Given the description of an element on the screen output the (x, y) to click on. 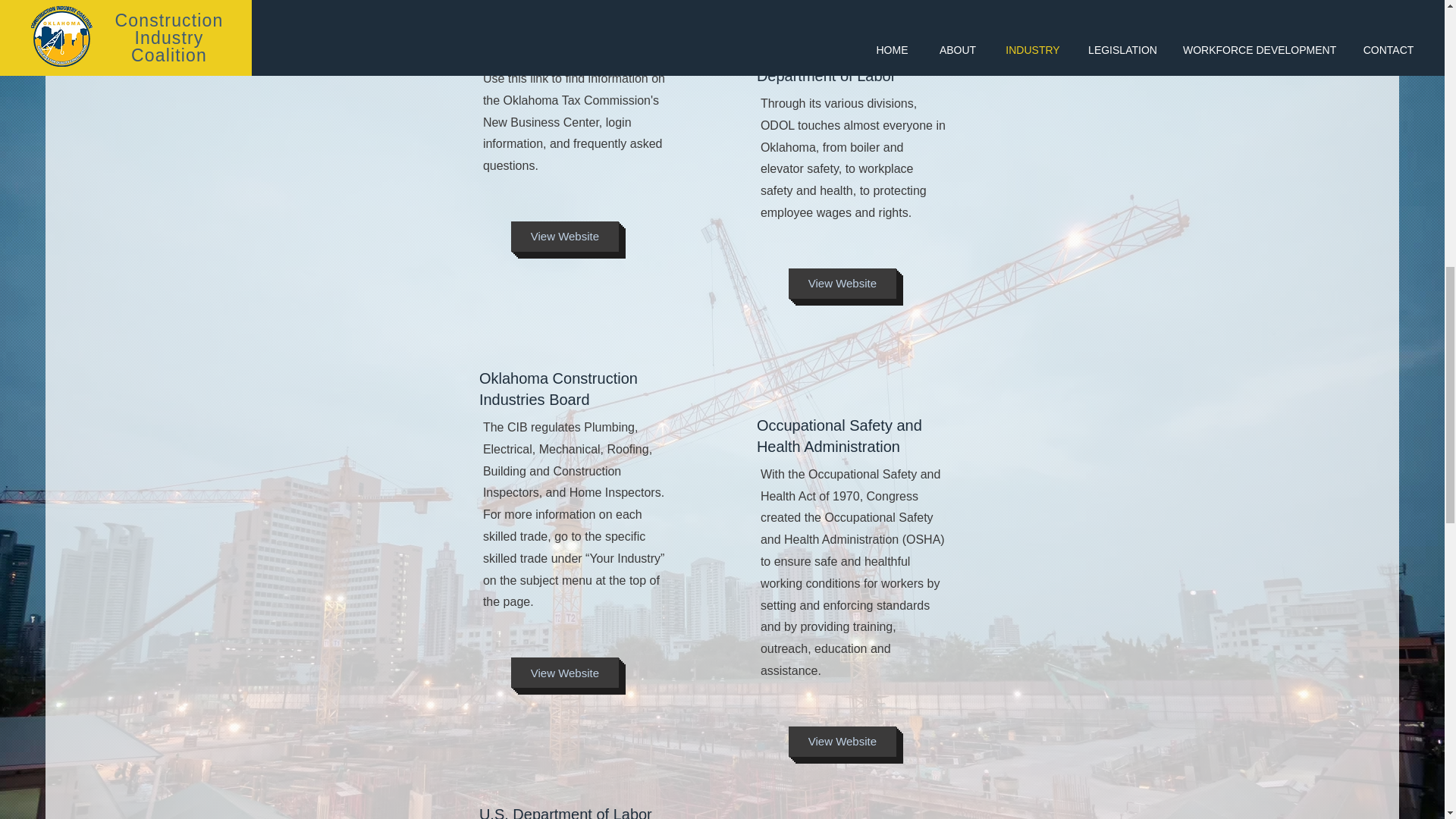
View Website (842, 741)
View Website (564, 236)
View Website (564, 672)
View Website (842, 283)
